Given the description of an element on the screen output the (x, y) to click on. 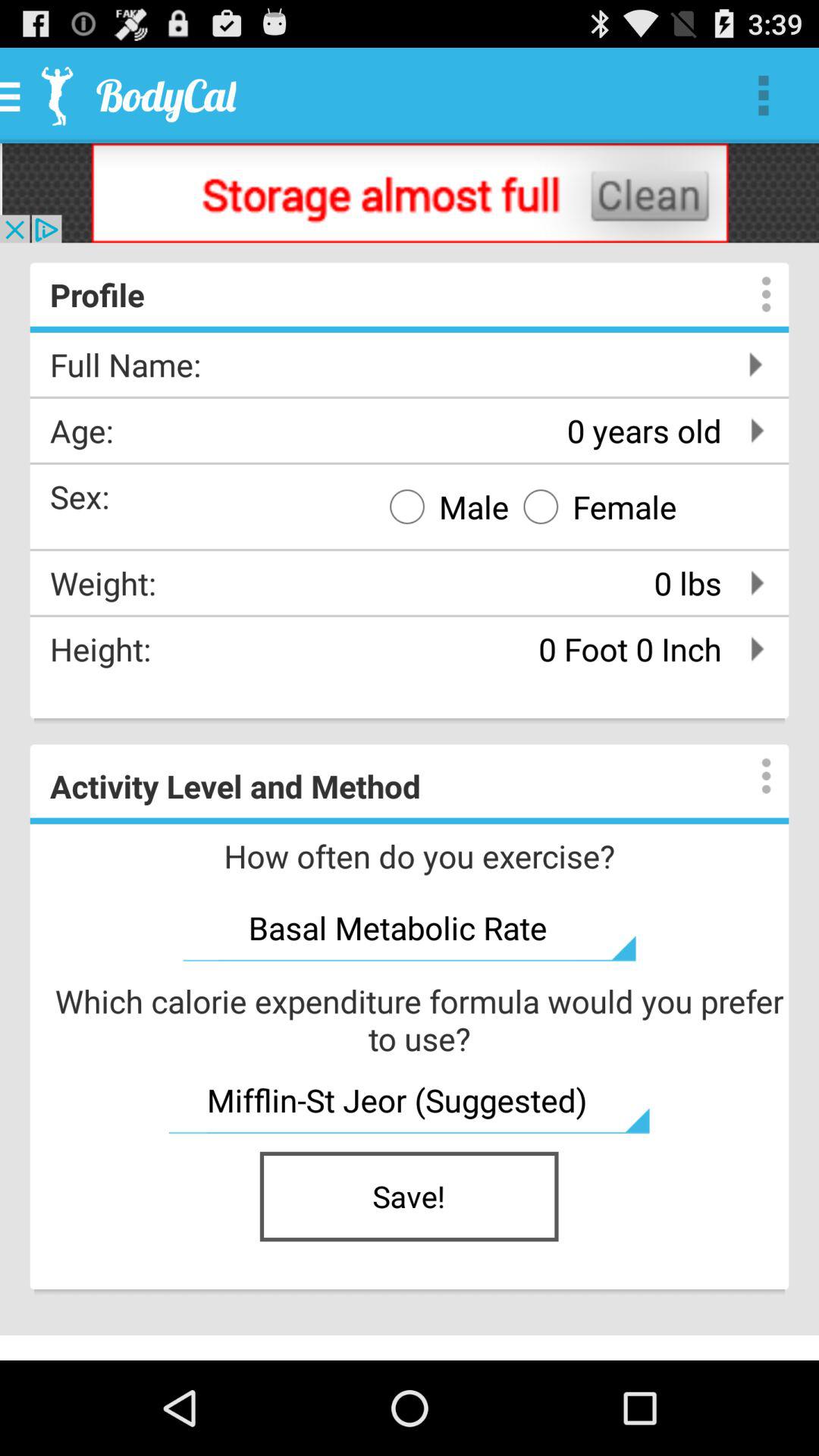
click on basal metabolic rate (409, 928)
click on the next page icon right next to full name (760, 363)
click on save (409, 1196)
click on female (592, 506)
